Given the description of an element on the screen output the (x, y) to click on. 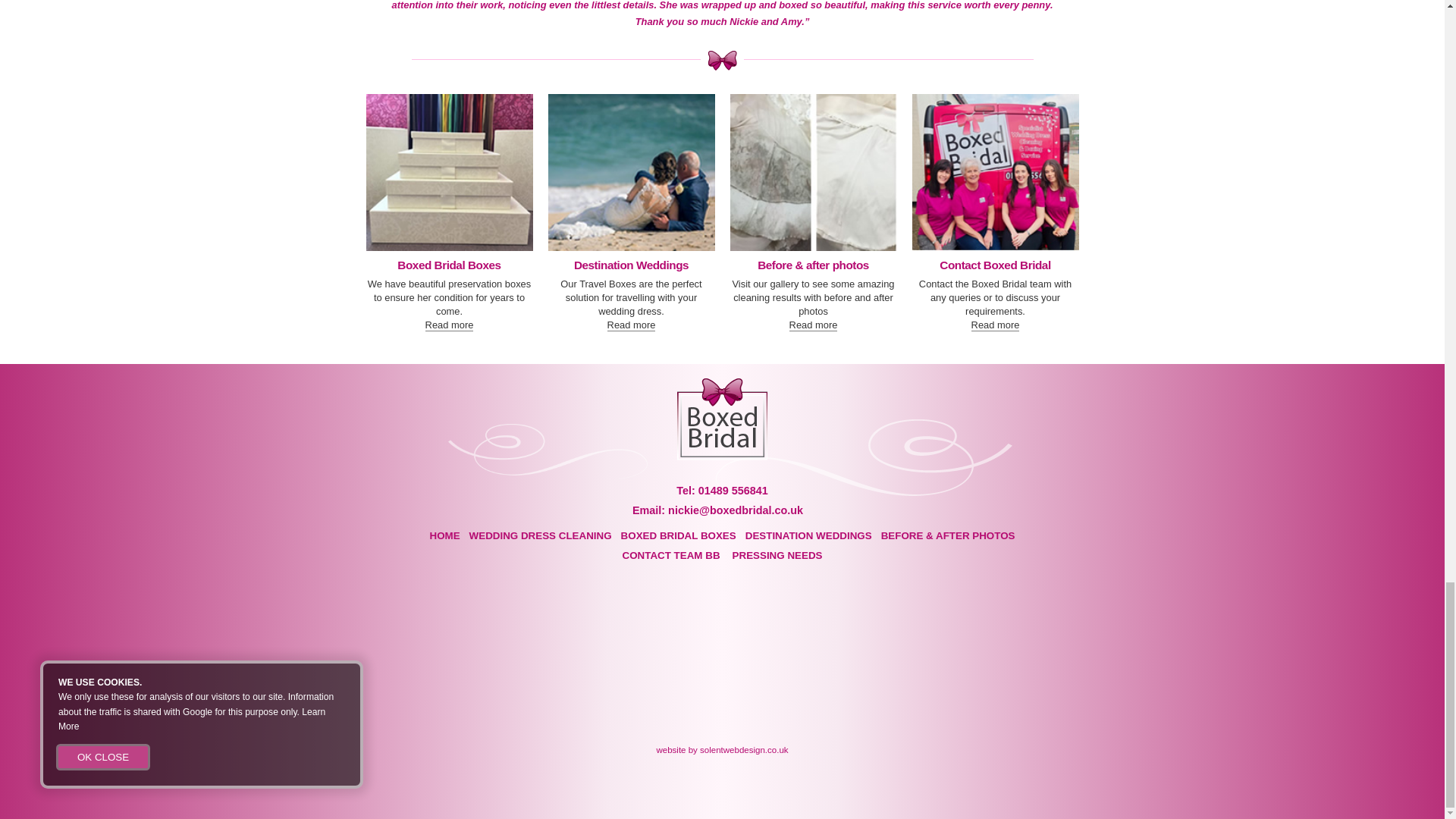
DESTINATION WEDDINGS (808, 535)
Read more (995, 324)
CONTACT TEAM BB (671, 555)
Tel: 01489 556841 (722, 490)
WEDDING DRESS CLEANING (539, 535)
BOXED BRIDAL BOXES (678, 535)
PRESSING NEEDS (777, 555)
Read more (631, 324)
Read more (449, 324)
Read more (813, 324)
